Given the description of an element on the screen output the (x, y) to click on. 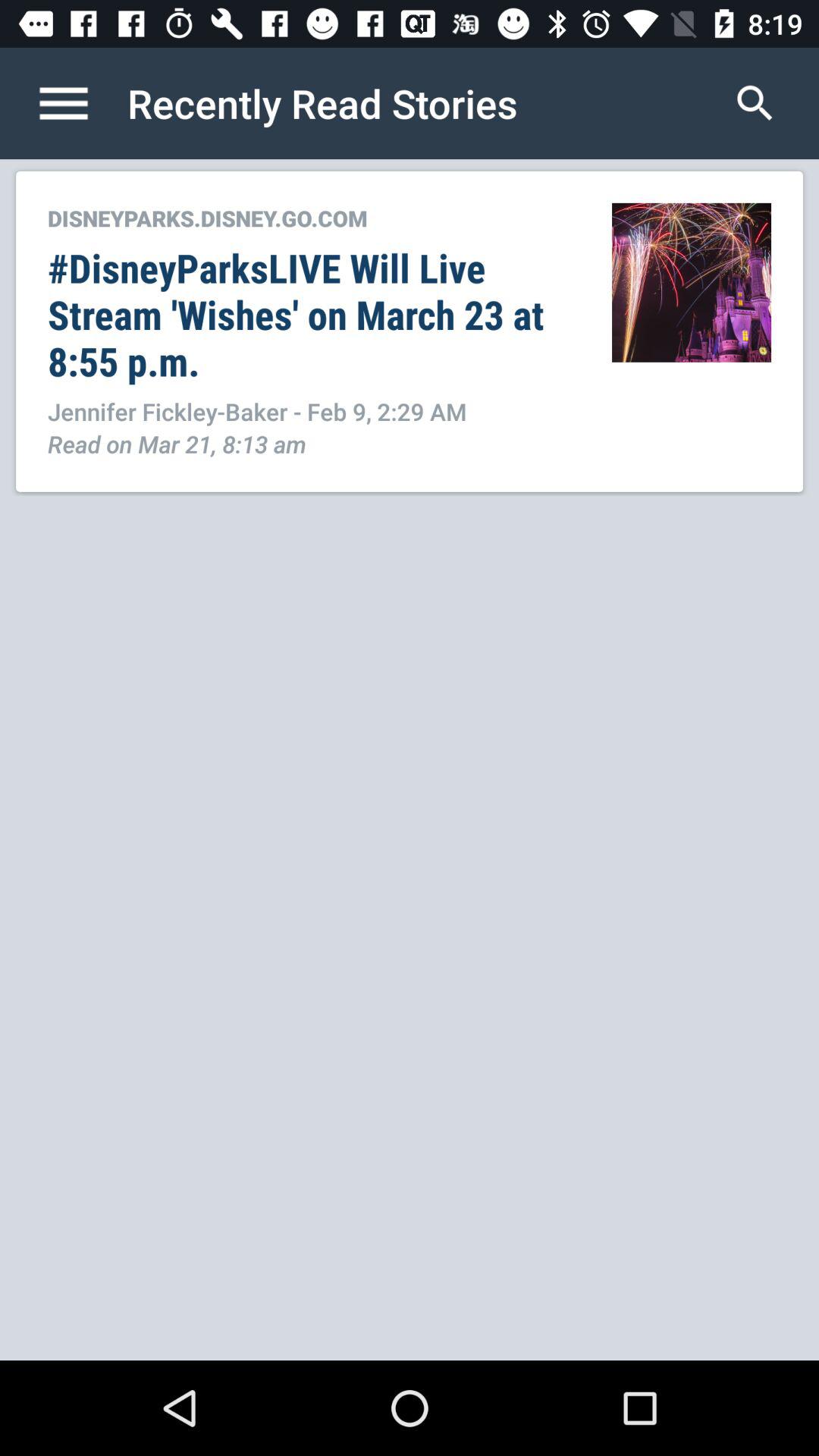
turn on icon above read on mar (313, 411)
